Given the description of an element on the screen output the (x, y) to click on. 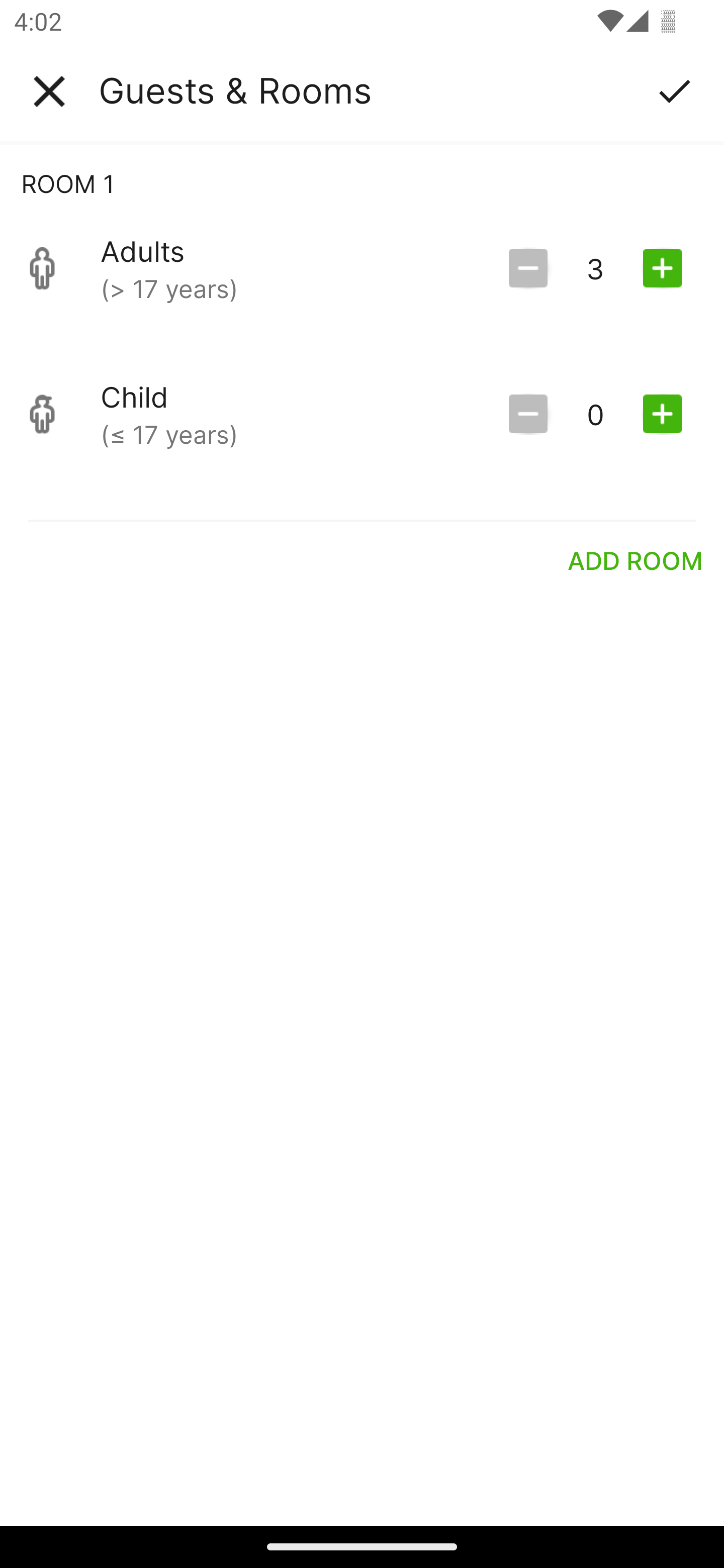
ADD ROOM (635, 560)
